Given the description of an element on the screen output the (x, y) to click on. 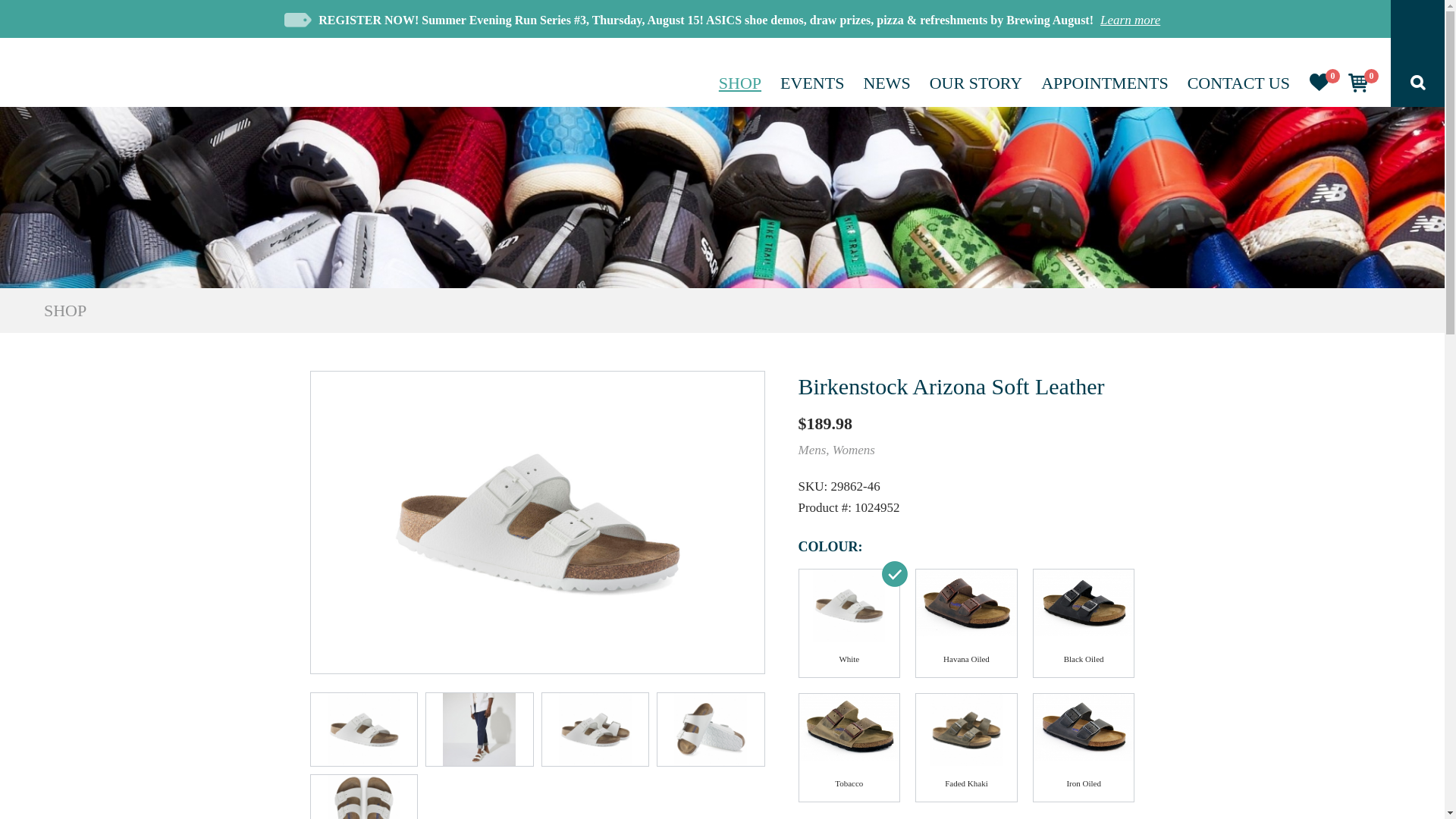
SHOP (740, 82)
0 (1358, 87)
APPOINTMENTS (1104, 82)
CONTACT US (1239, 82)
NEWS (886, 82)
OUR STORY (976, 82)
Learn more (1130, 20)
0 (1318, 86)
Search (1417, 85)
EVENTS (812, 82)
View Favourites (1318, 86)
View Cart (1358, 87)
